Given the description of an element on the screen output the (x, y) to click on. 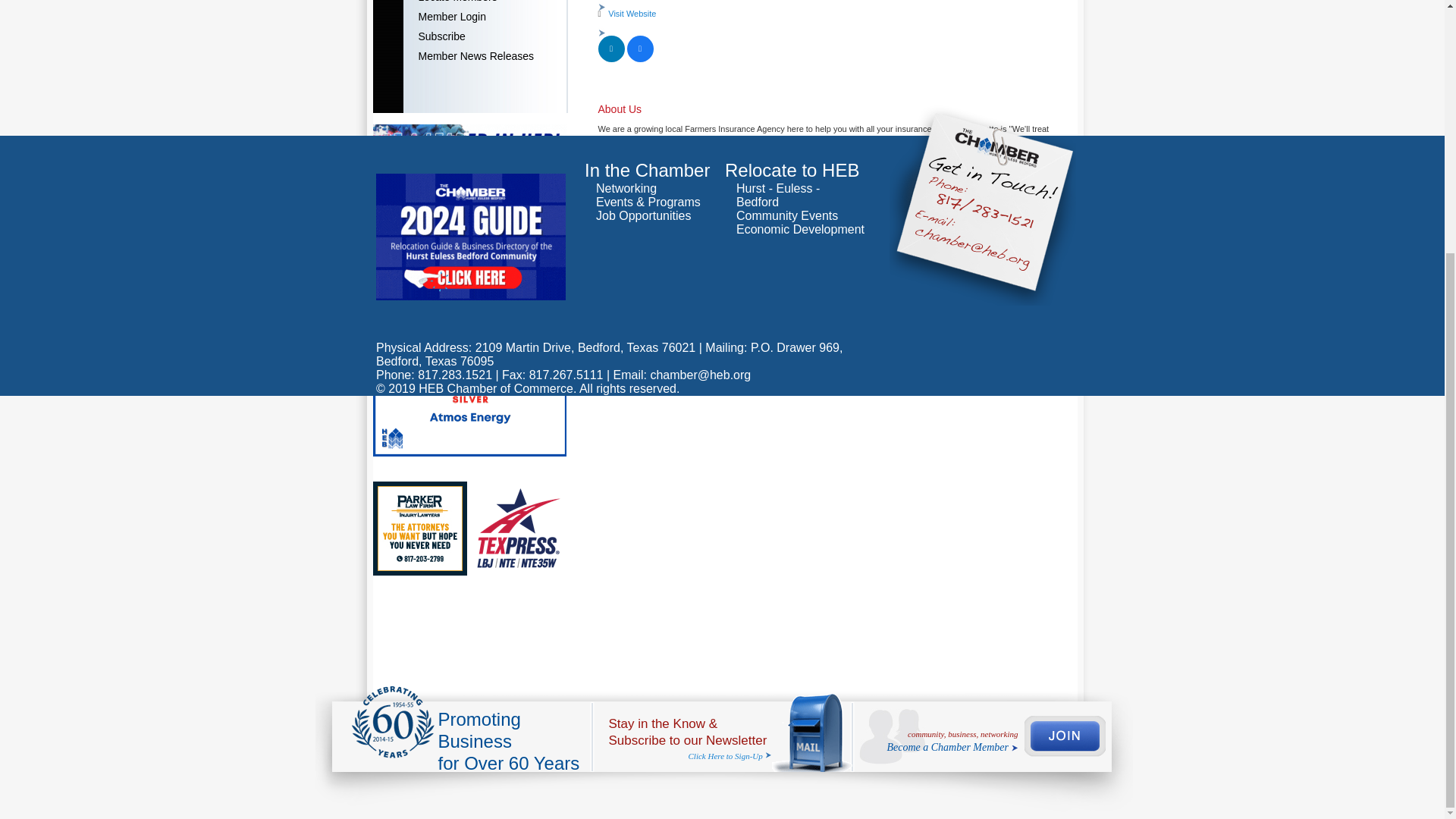
View on LinkedIn (610, 58)
View on Facebook (639, 58)
Subscribe (485, 35)
Member News Releases (485, 55)
Locate Members (485, 3)
Member Login (485, 16)
